Given the description of an element on the screen output the (x, y) to click on. 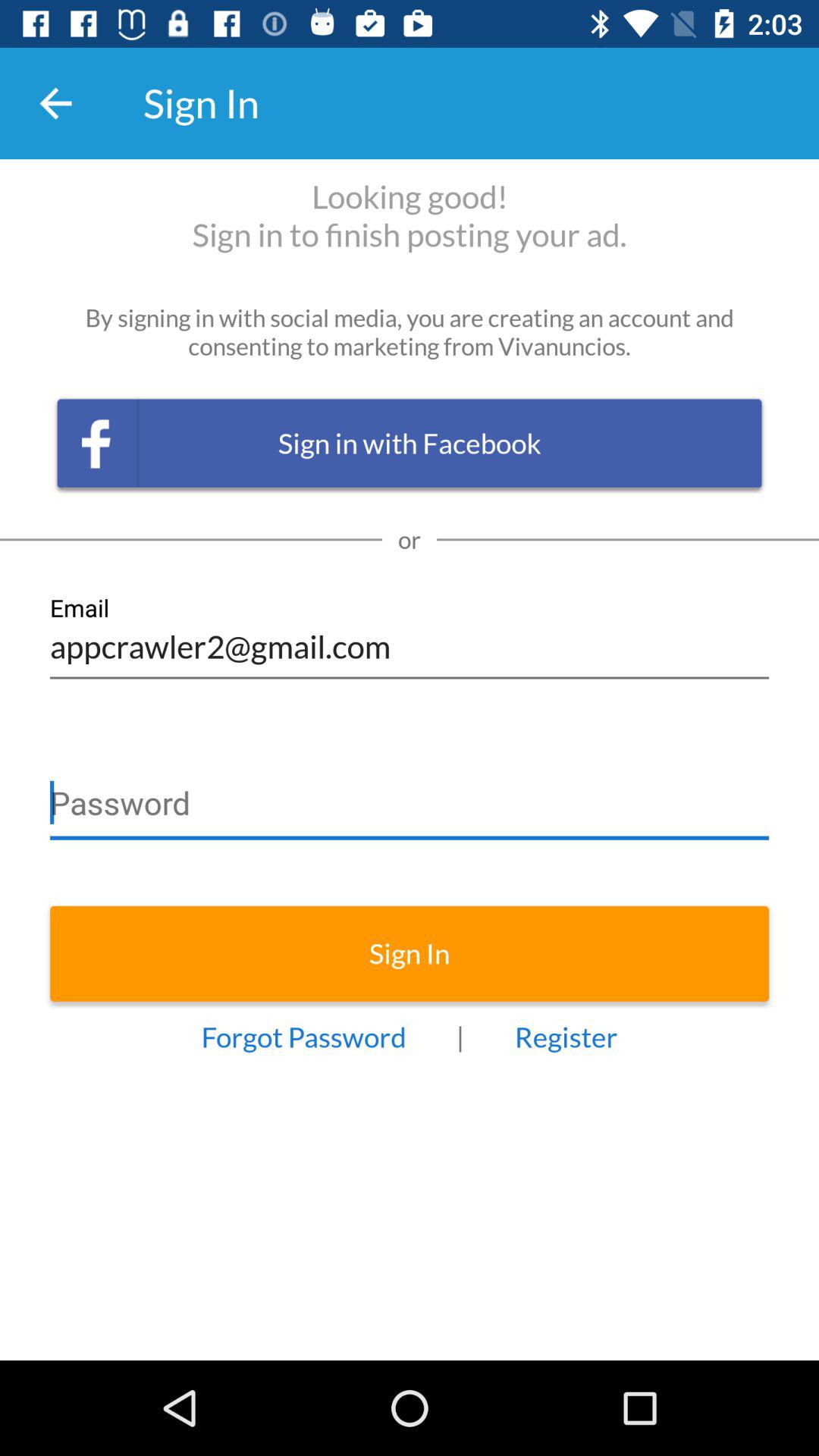
tap the icon below sign in (565, 1036)
